Given the description of an element on the screen output the (x, y) to click on. 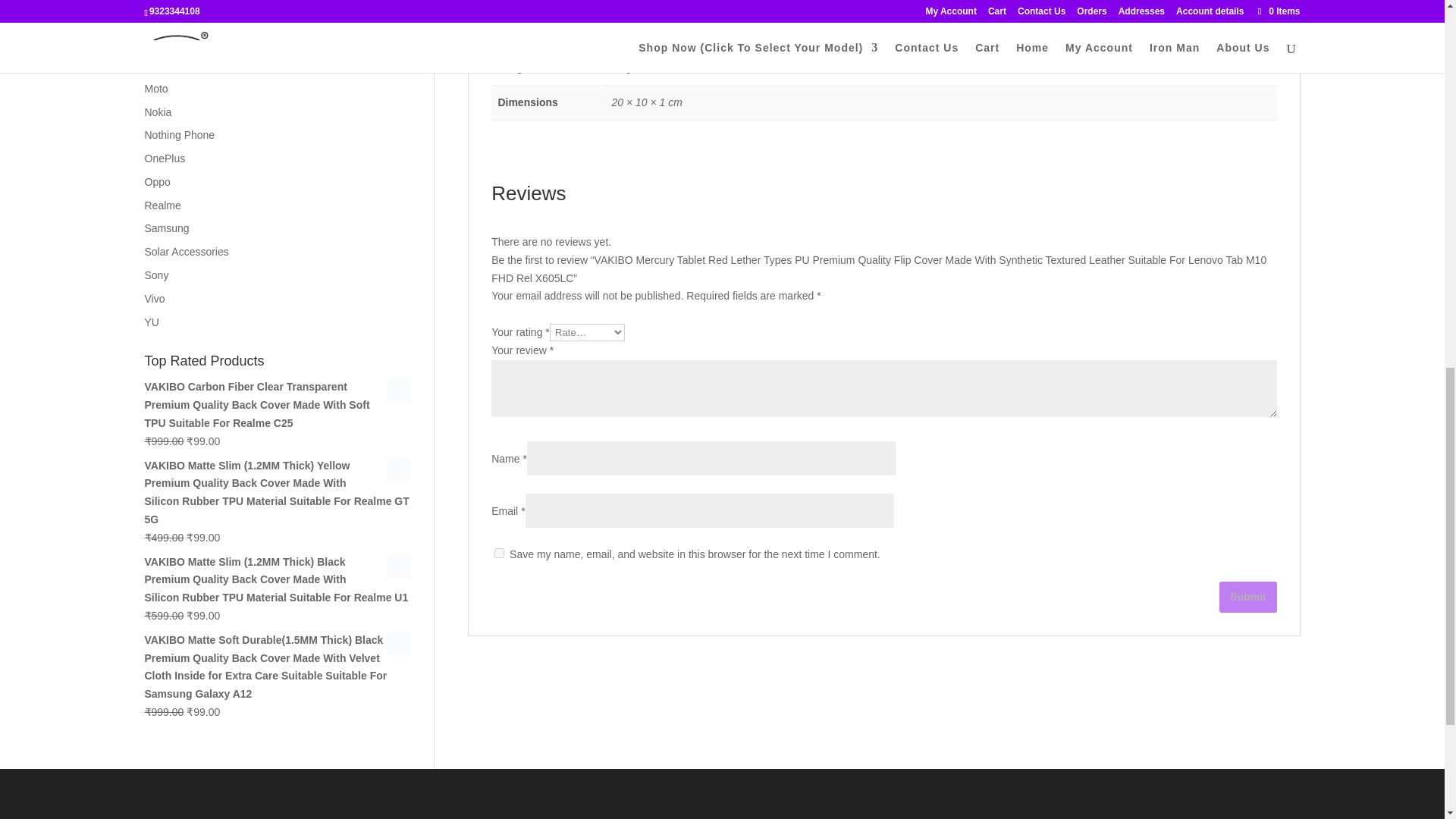
yes (499, 552)
Submit (1248, 596)
Submit (1248, 596)
